Given the description of an element on the screen output the (x, y) to click on. 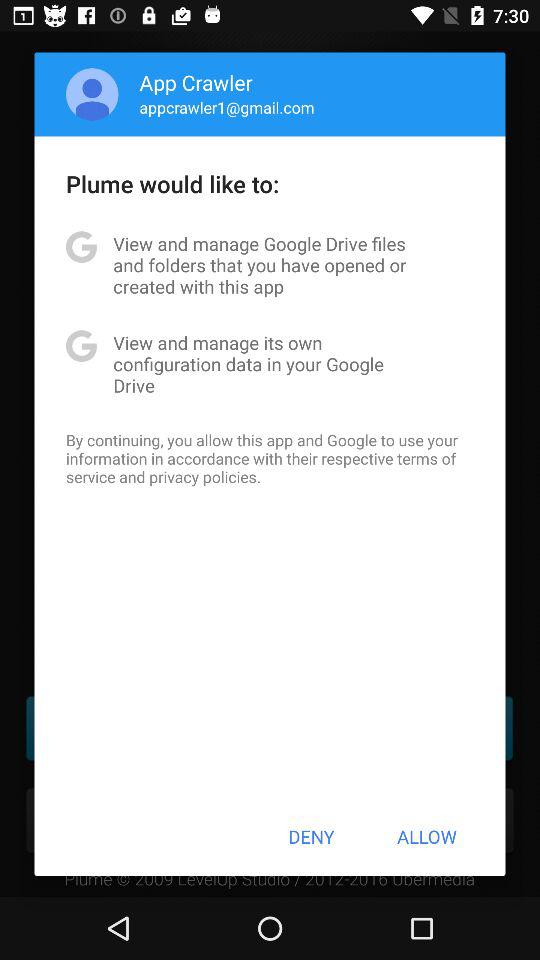
swipe to deny item (311, 836)
